Given the description of an element on the screen output the (x, y) to click on. 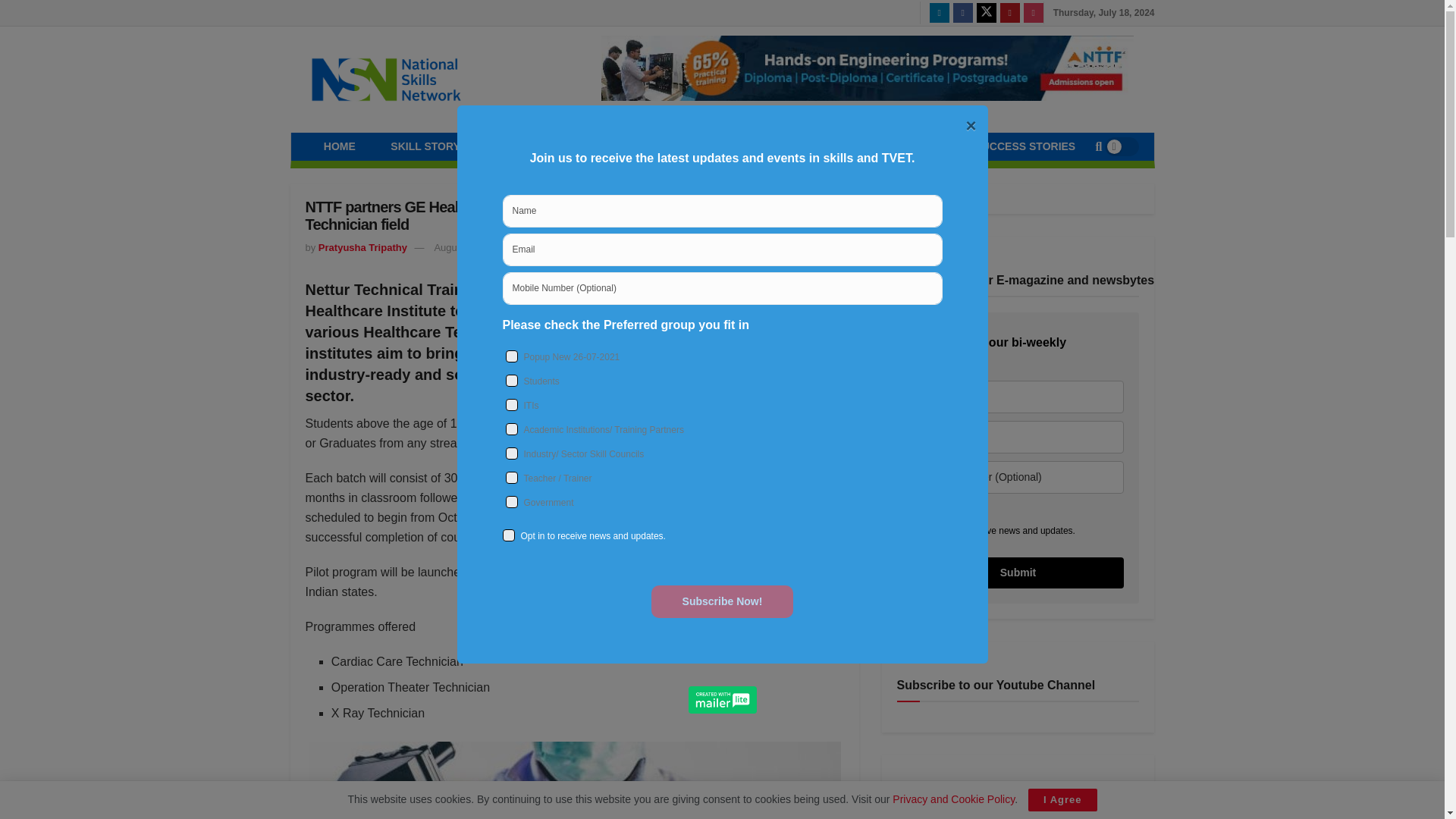
SKILL2JOBS (807, 146)
SUCCESS STORIES (1024, 146)
ABOUT US (908, 146)
SKILL TALK (525, 146)
HOME (339, 146)
NEWS (609, 146)
SKILL STORY (424, 146)
RESOURCES (700, 146)
